Given the description of an element on the screen output the (x, y) to click on. 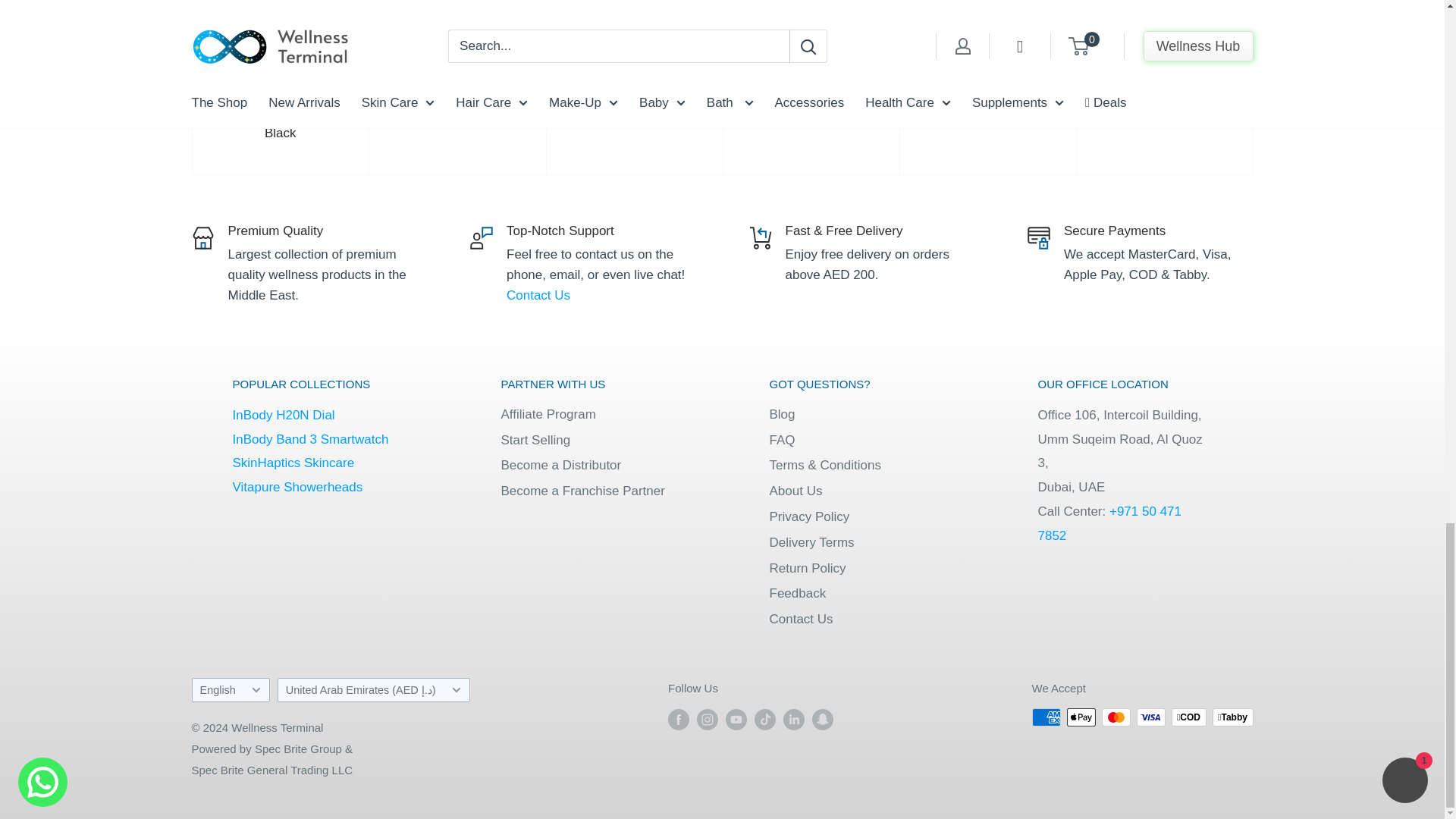
Transform Your Life with Vitapure (296, 486)
Contact (538, 295)
InBody Band 3 Smartwatch (309, 439)
Call Us (1108, 523)
